Given the description of an element on the screen output the (x, y) to click on. 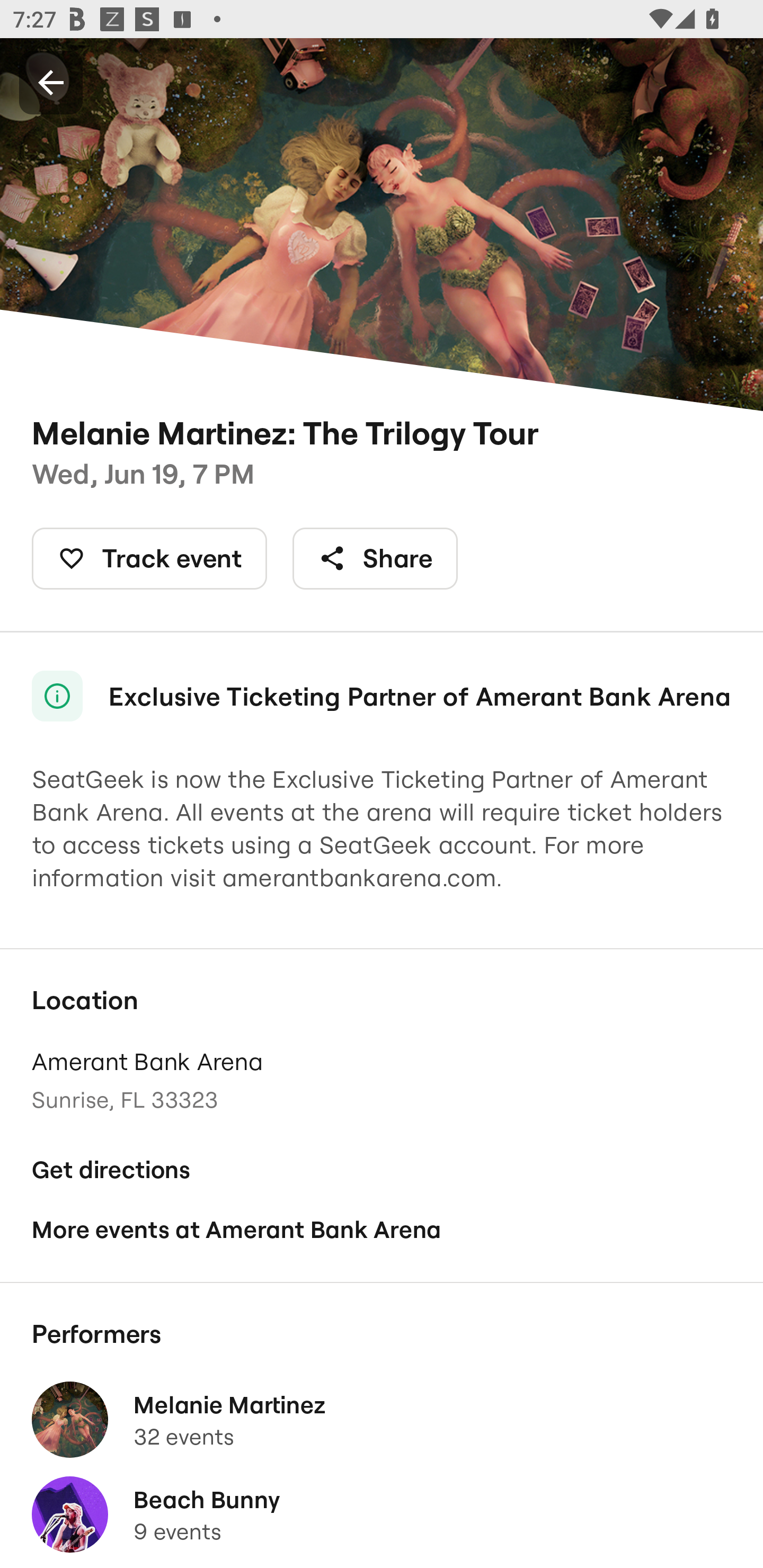
Back (50, 81)
Track event (149, 557)
Share (374, 557)
Get directions (381, 1169)
More events at Amerant Bank Arena (381, 1229)
Melanie Martinez 32 events (381, 1419)
Beach Bunny 9 events (381, 1514)
